Given the description of an element on the screen output the (x, y) to click on. 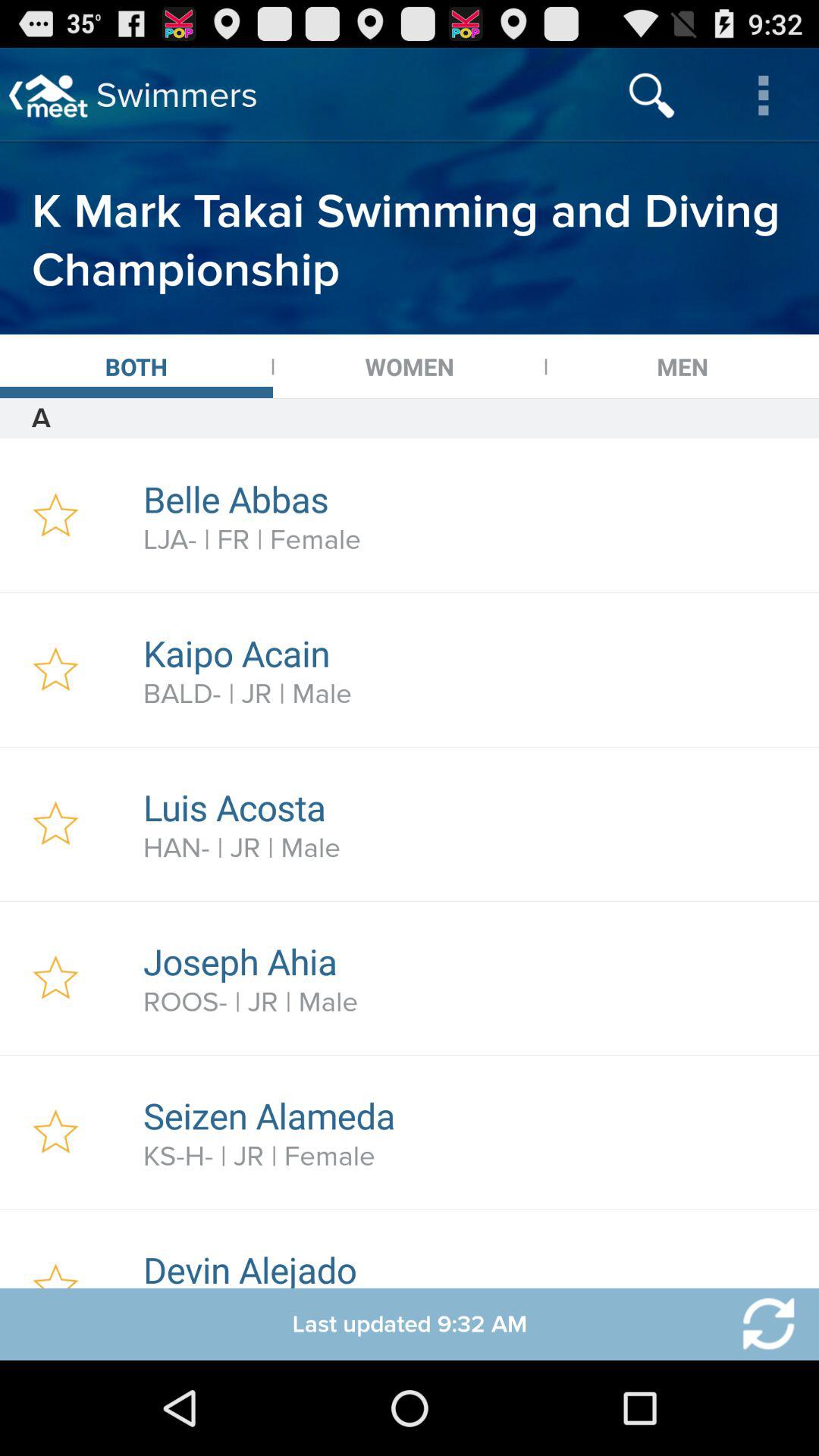
swipe to kaipo acain (473, 653)
